Given the description of an element on the screen output the (x, y) to click on. 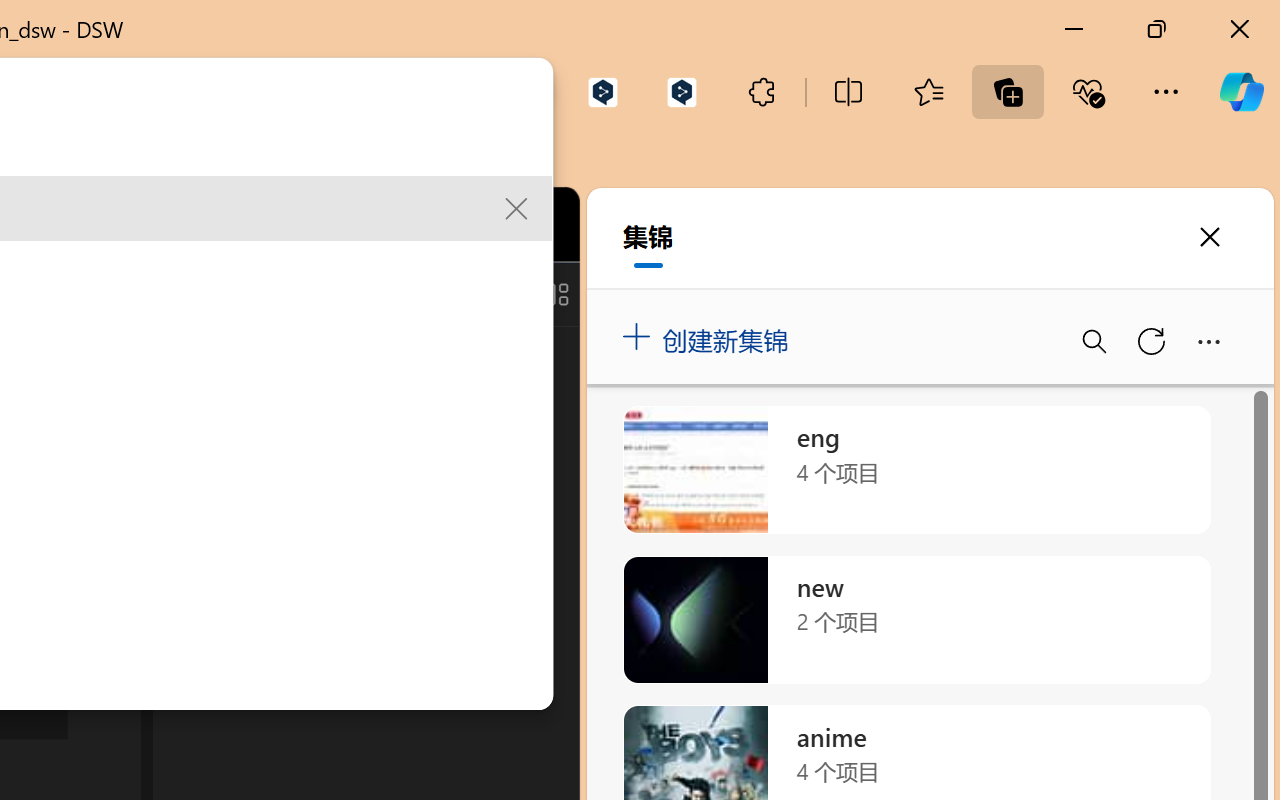
icon (436, 224)
Customize Layout... (553, 294)
Copilot (Ctrl+Shift+.) (1241, 91)
icon (436, 220)
Toggle Secondary Side Bar (Ctrl+Alt+B) (506, 294)
